Given the description of an element on the screen output the (x, y) to click on. 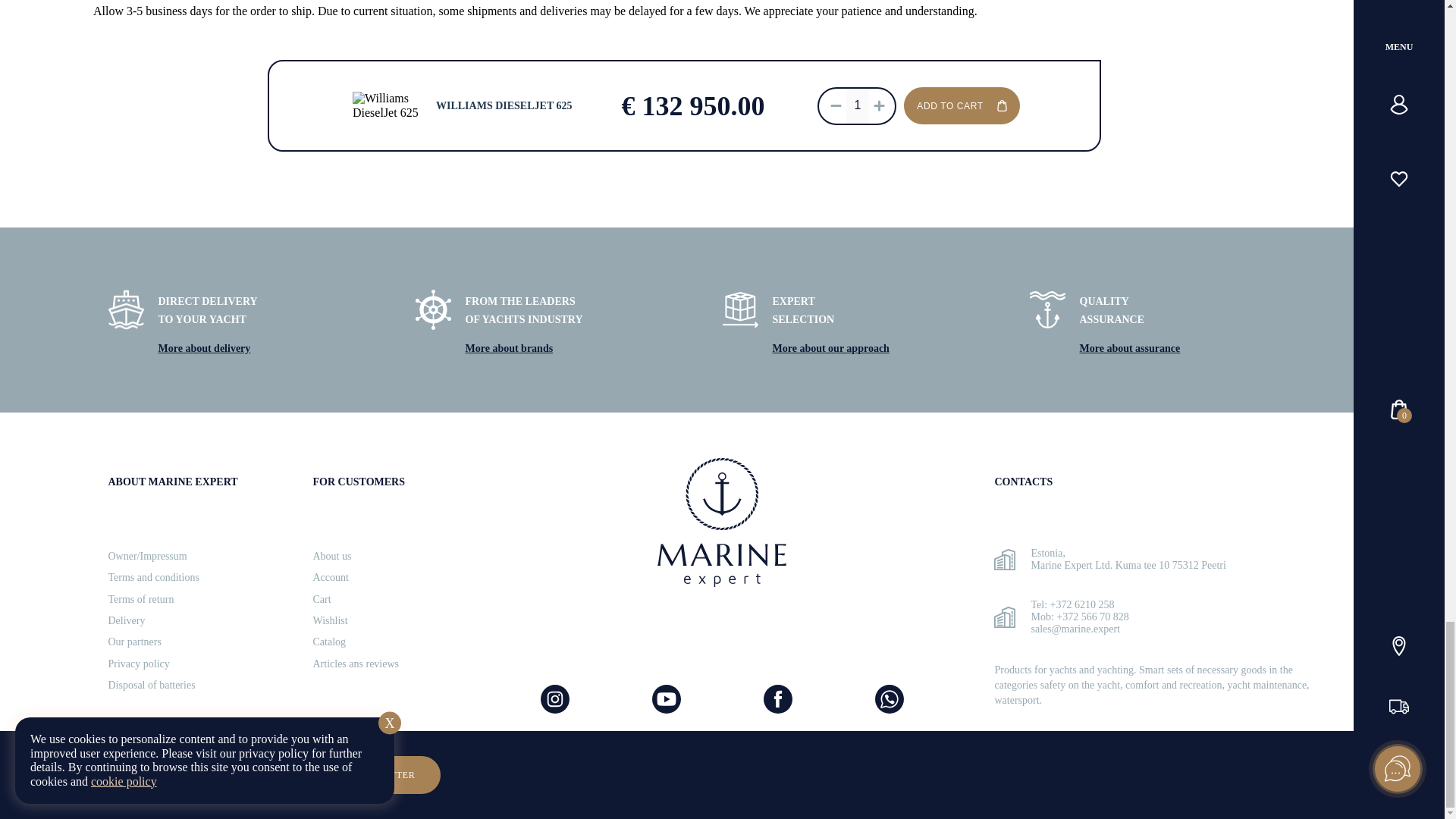
Facebook (777, 698)
Instagram (554, 698)
YouTube (666, 698)
WhatsApp (889, 698)
